Given the description of an element on the screen output the (x, y) to click on. 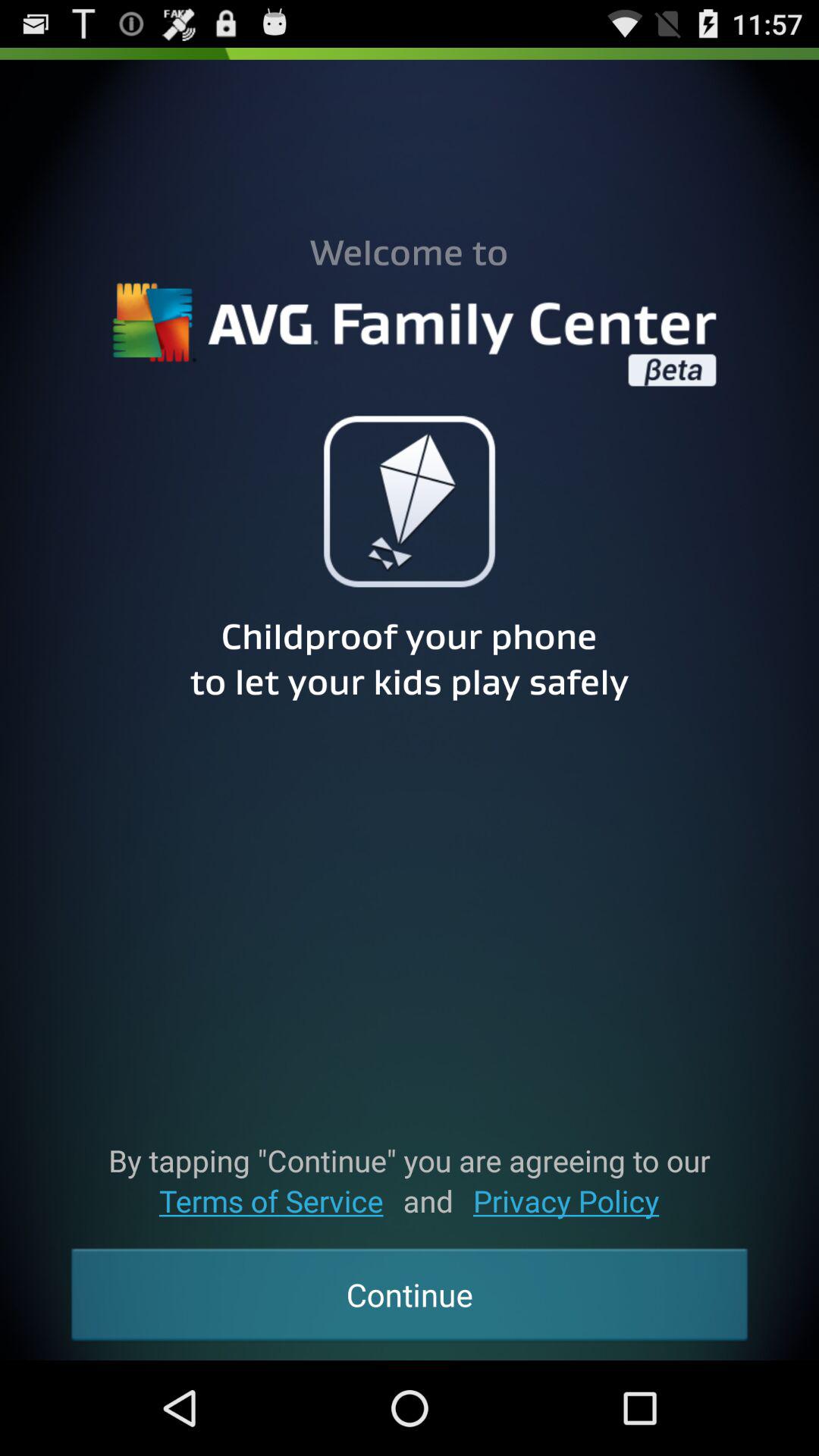
turn on the icon above continue icon (566, 1200)
